Given the description of an element on the screen output the (x, y) to click on. 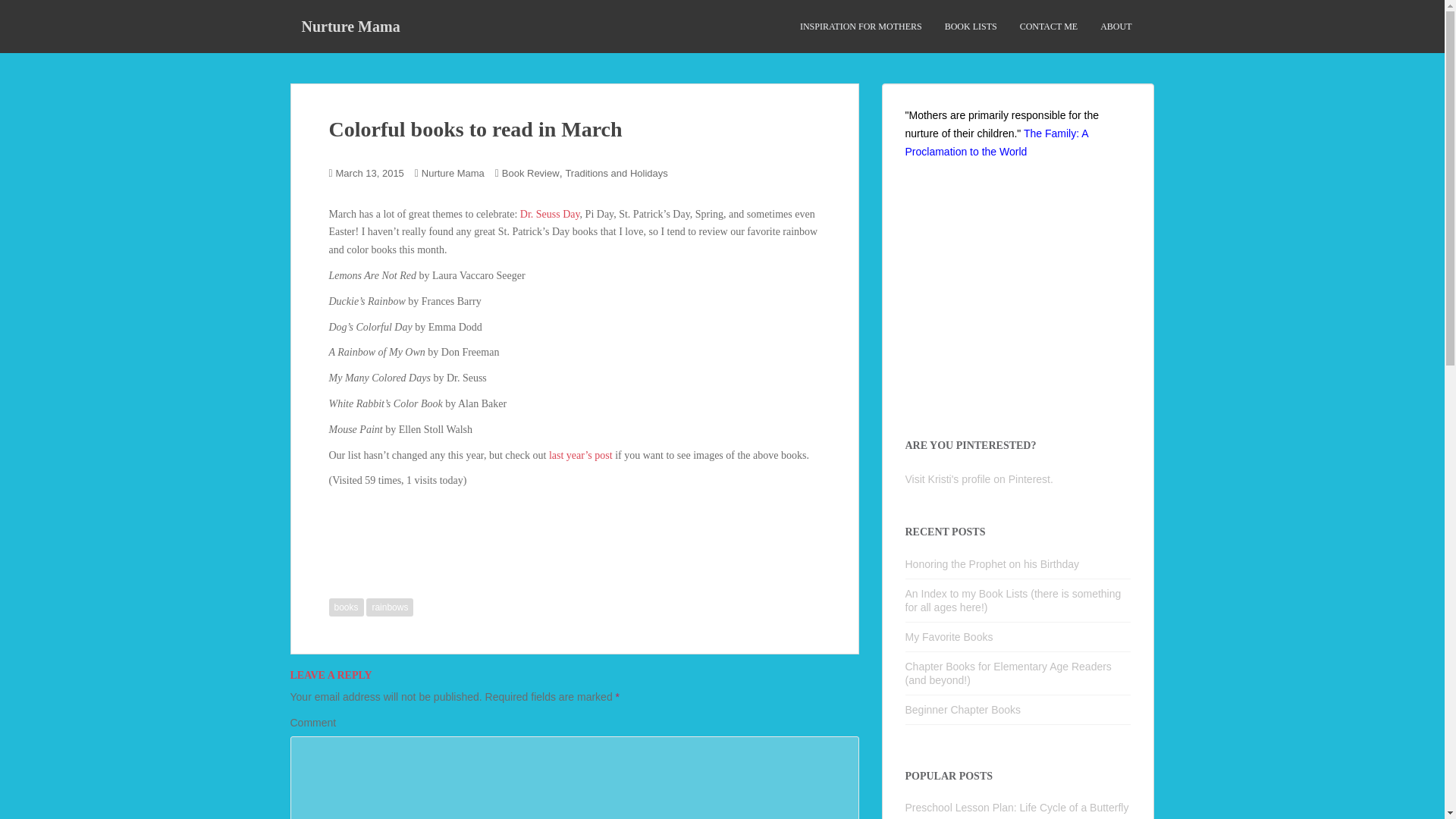
CONTACT ME (1049, 26)
Beginner Chapter Books (963, 709)
Dr. Seuss Day (549, 214)
Honoring the Prophet on his Birthday (992, 563)
Visit Kristi's profile on Pinterest. (978, 479)
Preschool Lesson Plan: Life Cycle of a Butterfly (1017, 807)
rainbows (389, 607)
My Favorite Books (948, 636)
INSPIRATION FOR MOTHERS (860, 26)
Traditions and Holidays (615, 173)
